Given the description of an element on the screen output the (x, y) to click on. 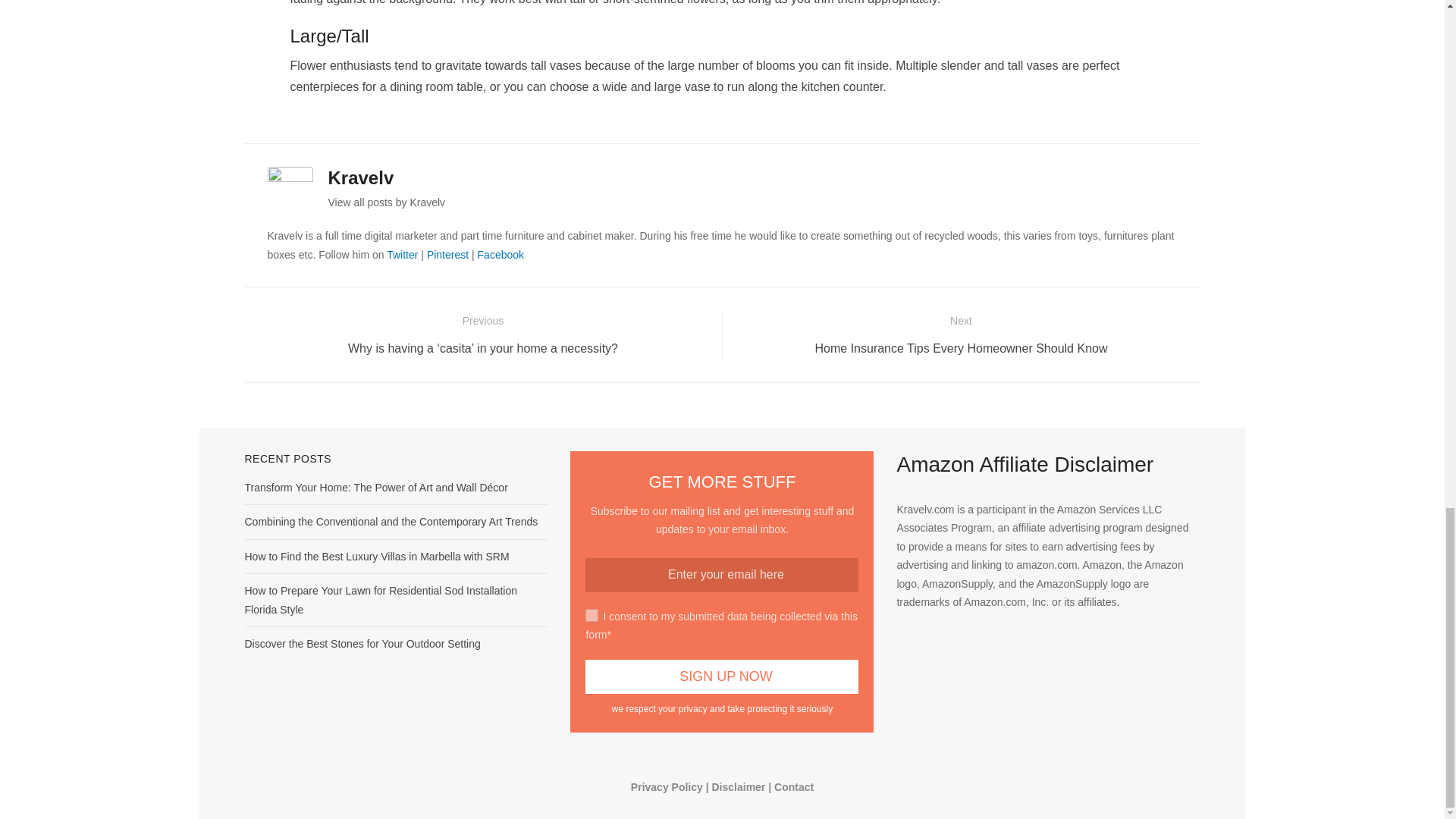
View all posts by Kravelv (386, 202)
Twitter (402, 254)
on (591, 615)
Sign Up Now (722, 676)
Pinterest (447, 254)
